Given the description of an element on the screen output the (x, y) to click on. 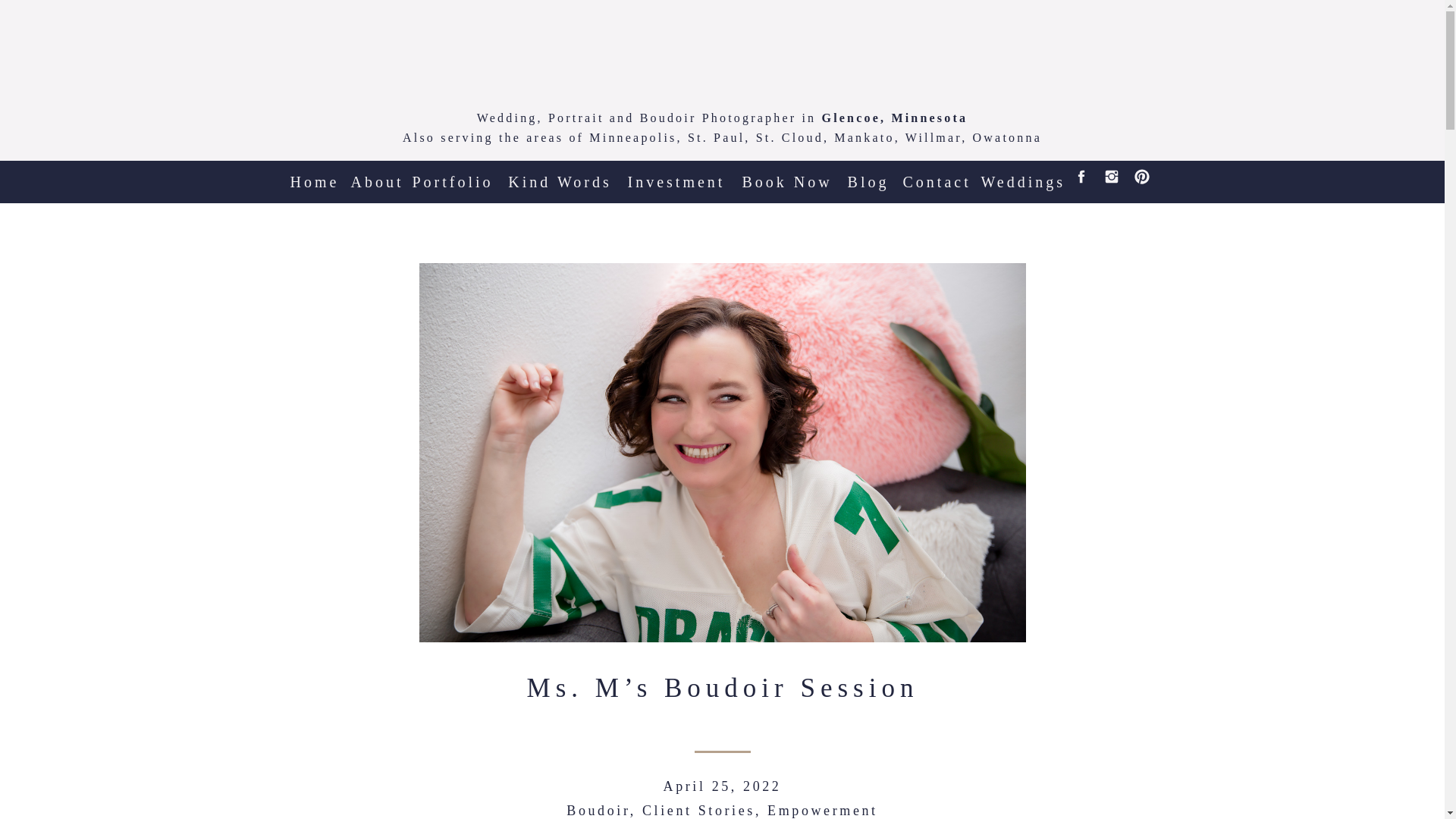
Investment (673, 175)
Contact (935, 175)
Kind Words (559, 175)
Weddings (1019, 175)
Book Now (786, 175)
Client Stories (698, 810)
Portfolio (452, 175)
Blog (867, 175)
Empowerment (822, 810)
Home (314, 175)
Boudoir (597, 810)
About (375, 175)
